Given the description of an element on the screen output the (x, y) to click on. 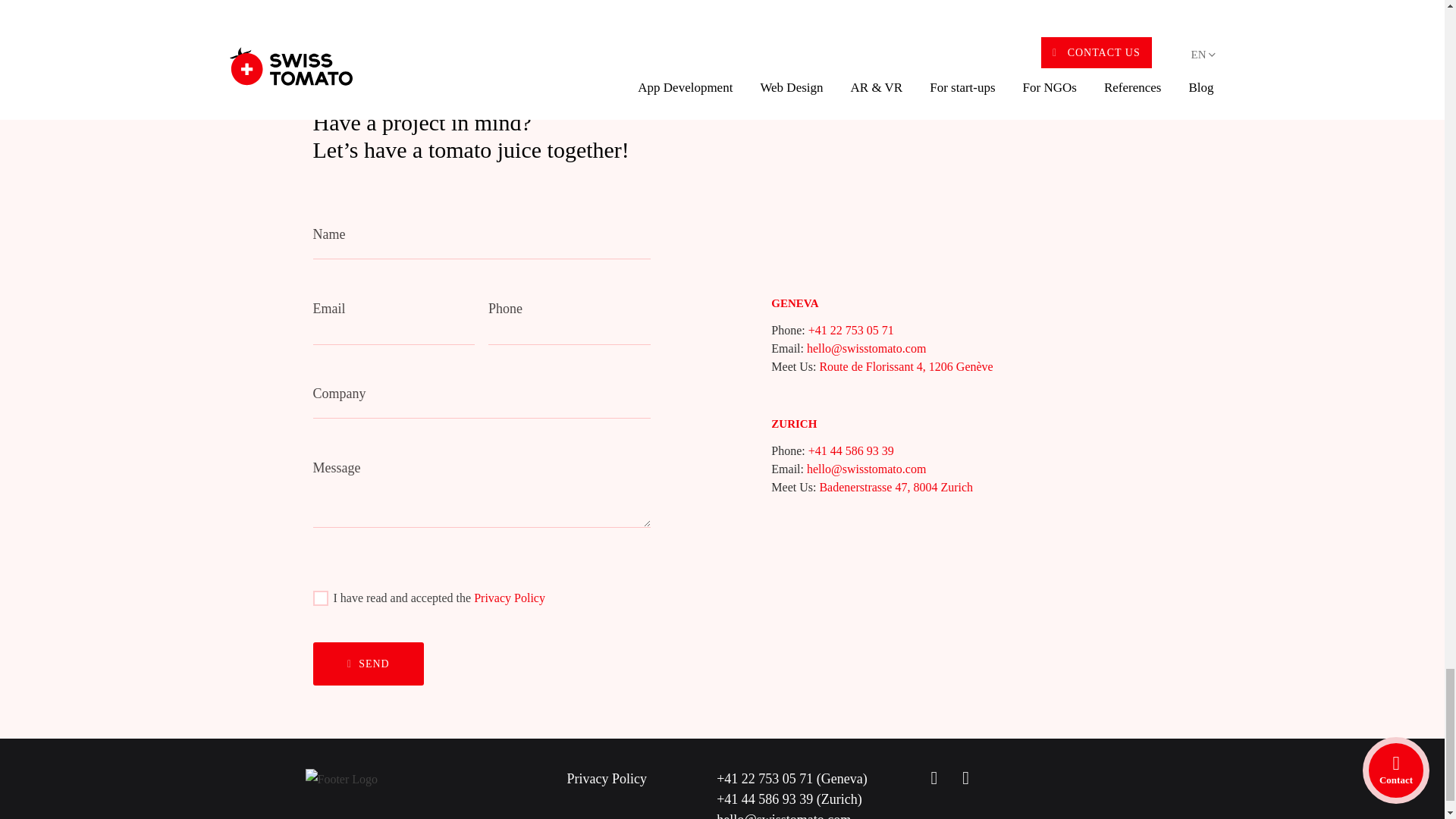
Privacy Policy (509, 597)
